Given the description of an element on the screen output the (x, y) to click on. 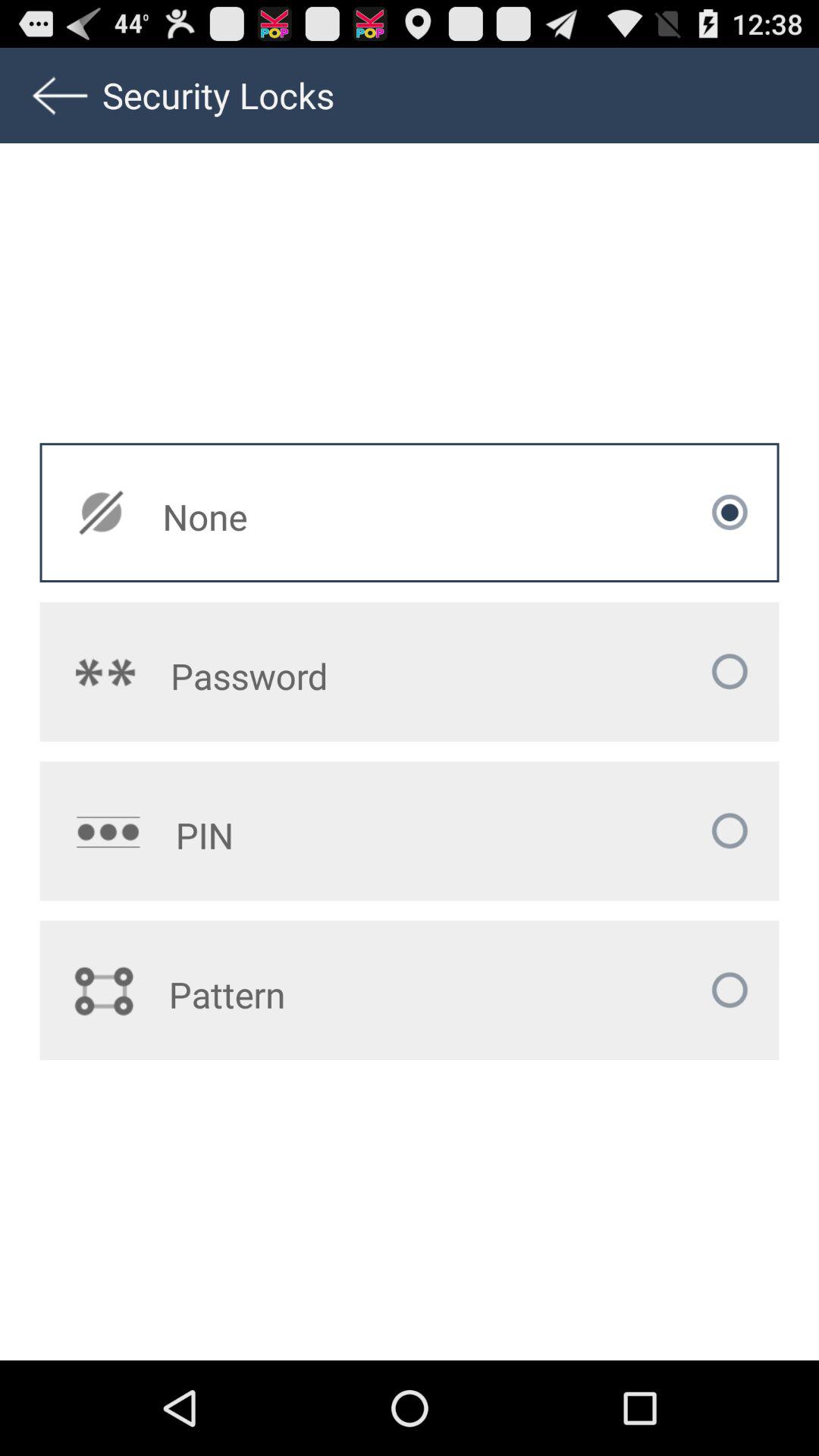
swipe to the password app (319, 675)
